Given the description of an element on the screen output the (x, y) to click on. 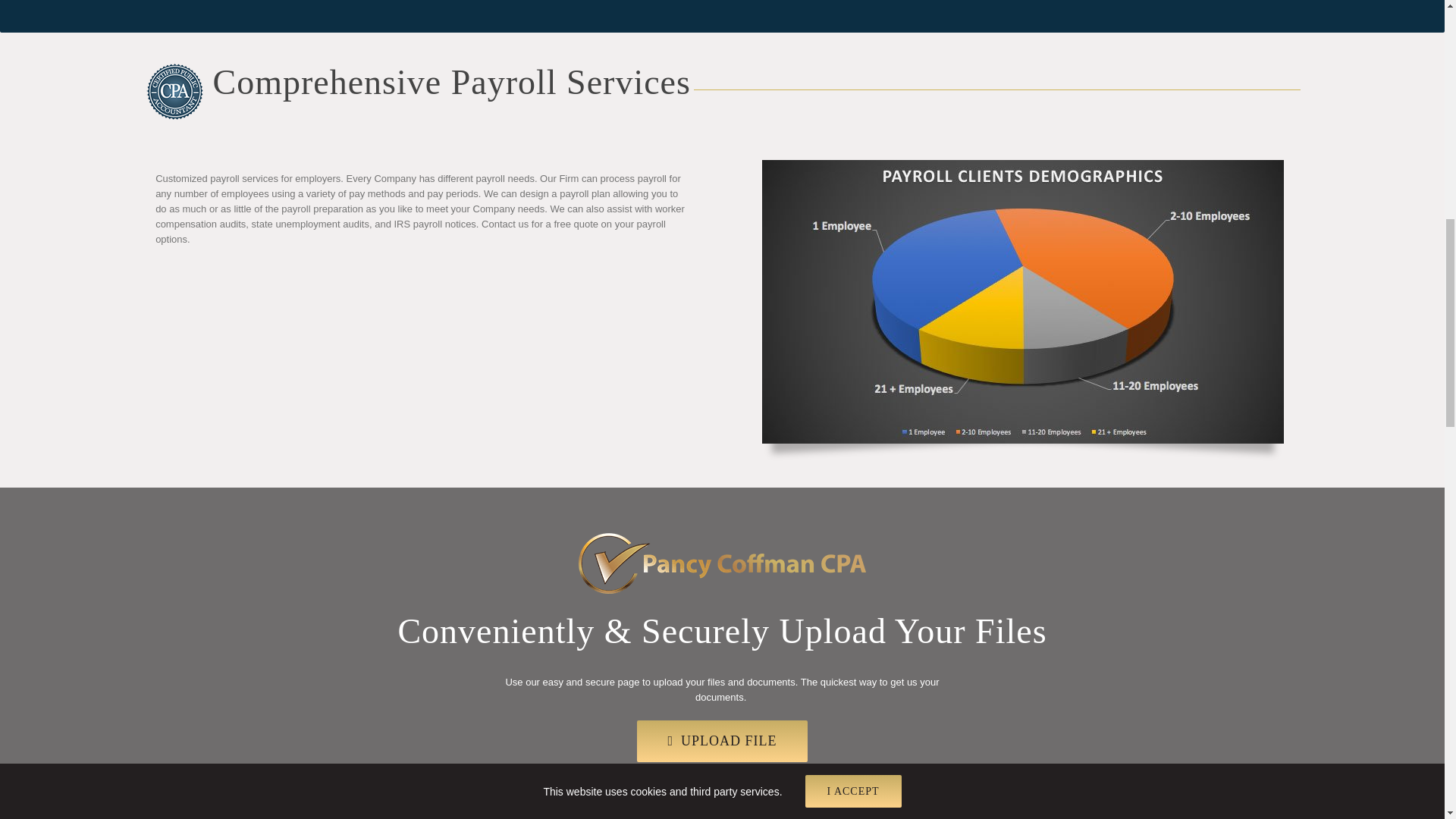
Pancy-Coffman-CPAs-logo-Gold-01 (722, 563)
